Given the description of an element on the screen output the (x, y) to click on. 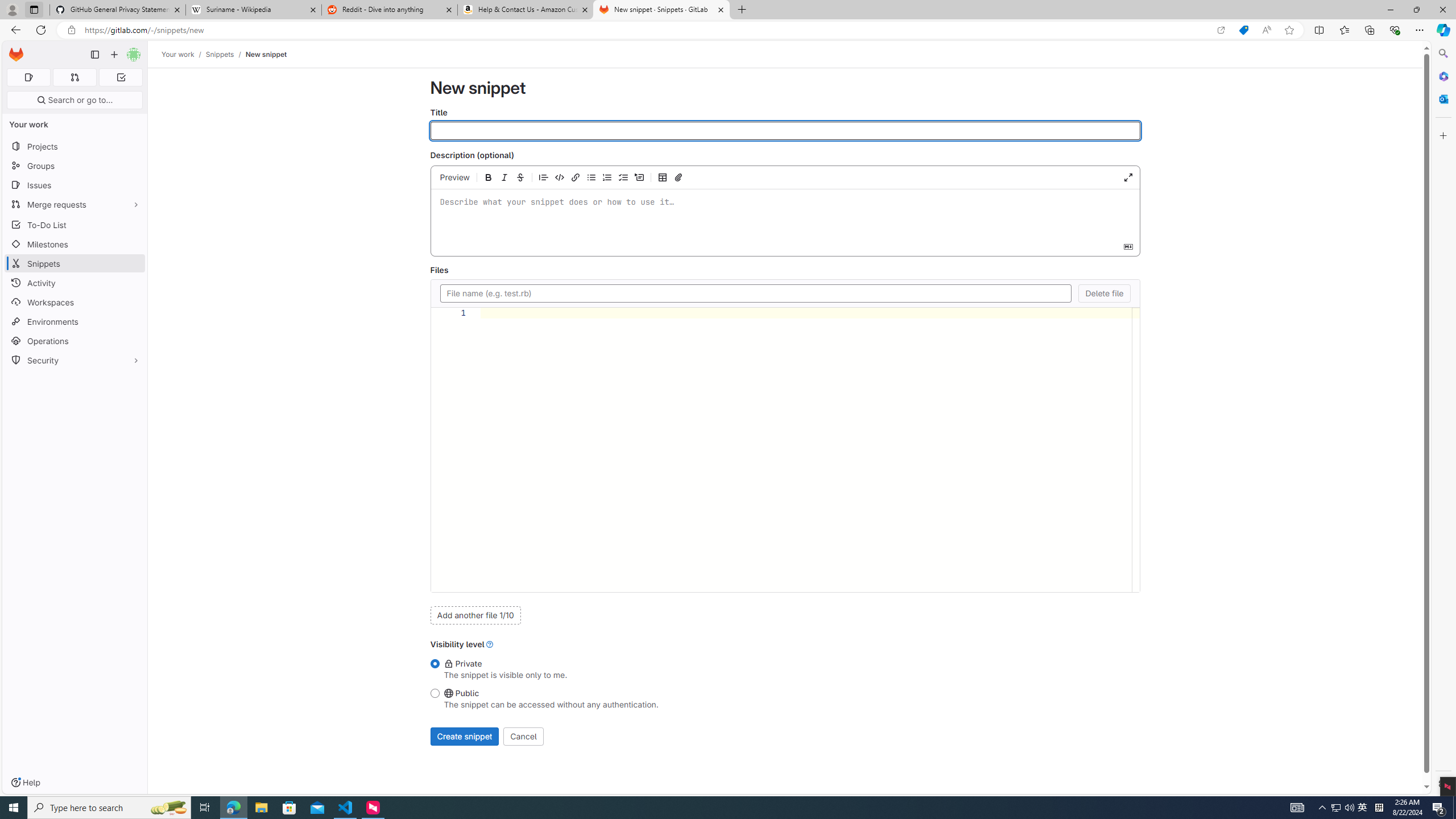
Assigned issues 0 (28, 76)
Close Outlook pane (1442, 98)
Preview (454, 177)
Add bold text (Ctrl+B) (488, 177)
Help & Contact Us - Amazon Customer Service (525, 9)
Issues (74, 185)
Private The snippet is visible only to me. (434, 664)
Suriname - Wikipedia (253, 9)
Add a numbered list (606, 177)
Attach a file or image (678, 177)
Environments (74, 321)
